Given the description of an element on the screen output the (x, y) to click on. 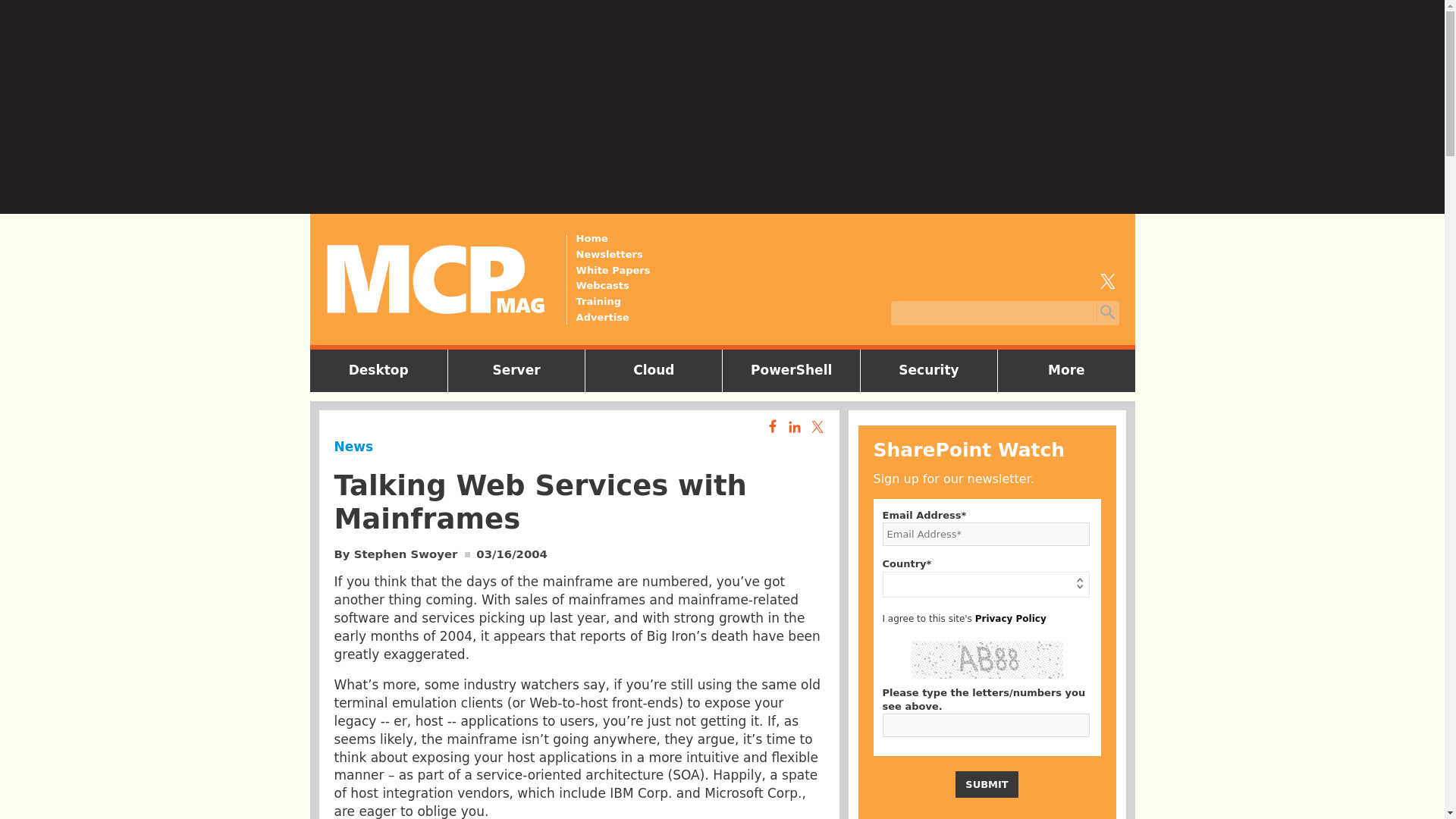
Privacy Policy (1010, 618)
Stephen Swoyer (405, 554)
Search (1105, 312)
Security (928, 369)
Submit (986, 784)
PowerShell (791, 369)
Submit (986, 784)
Webcasts (613, 285)
Home (613, 238)
